Given the description of an element on the screen output the (x, y) to click on. 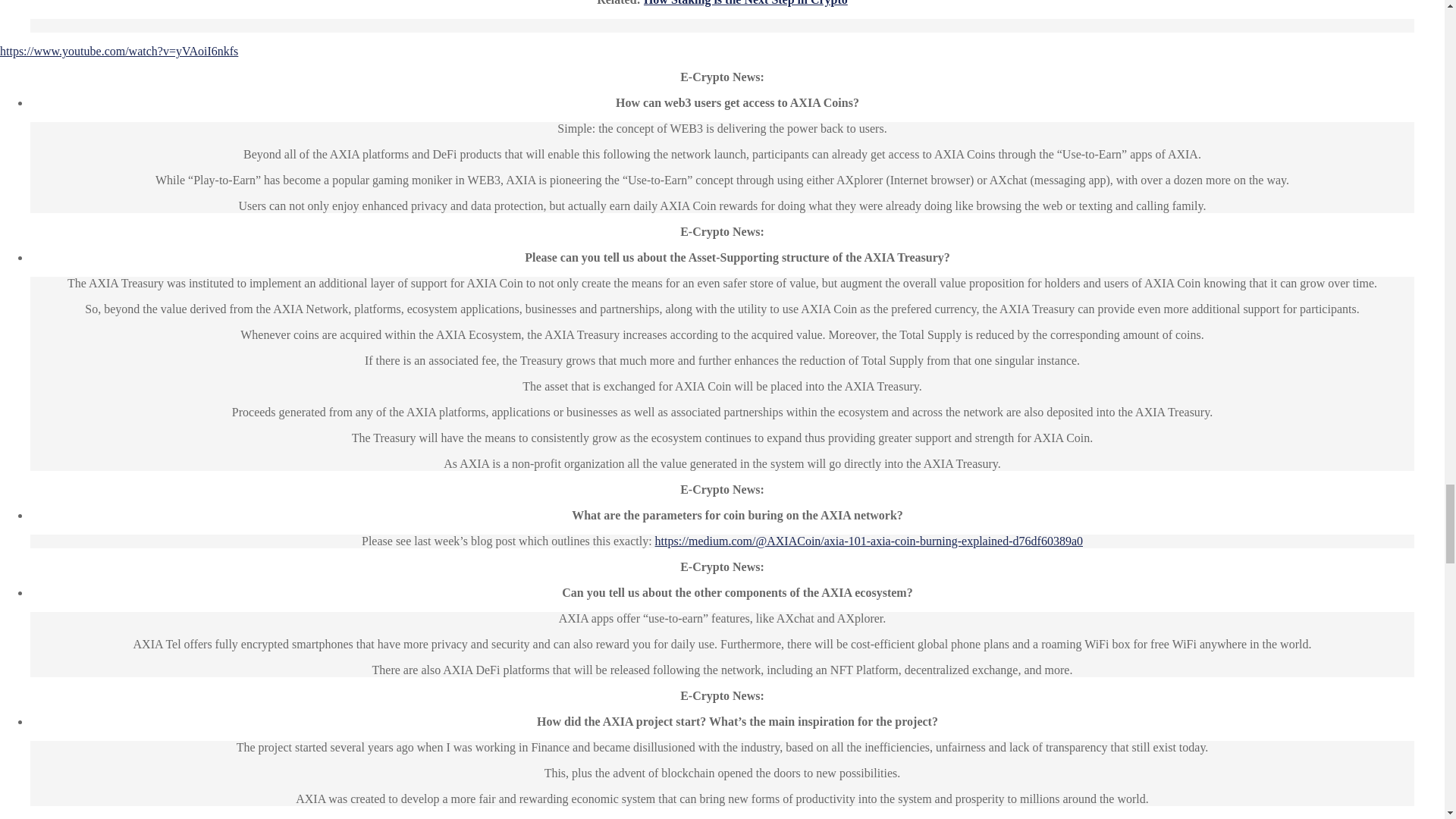
How Staking is the Next Step in Crypto (745, 2)
